Given the description of an element on the screen output the (x, y) to click on. 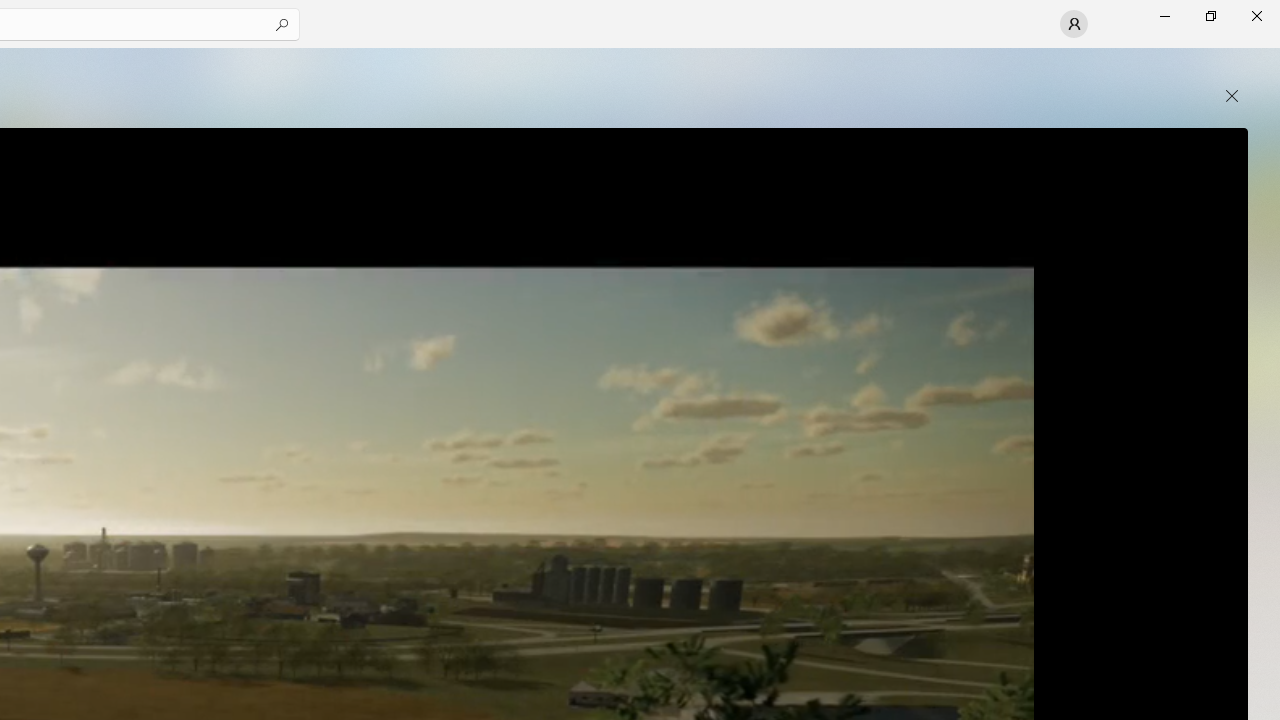
close popup window (1232, 95)
